Given the description of an element on the screen output the (x, y) to click on. 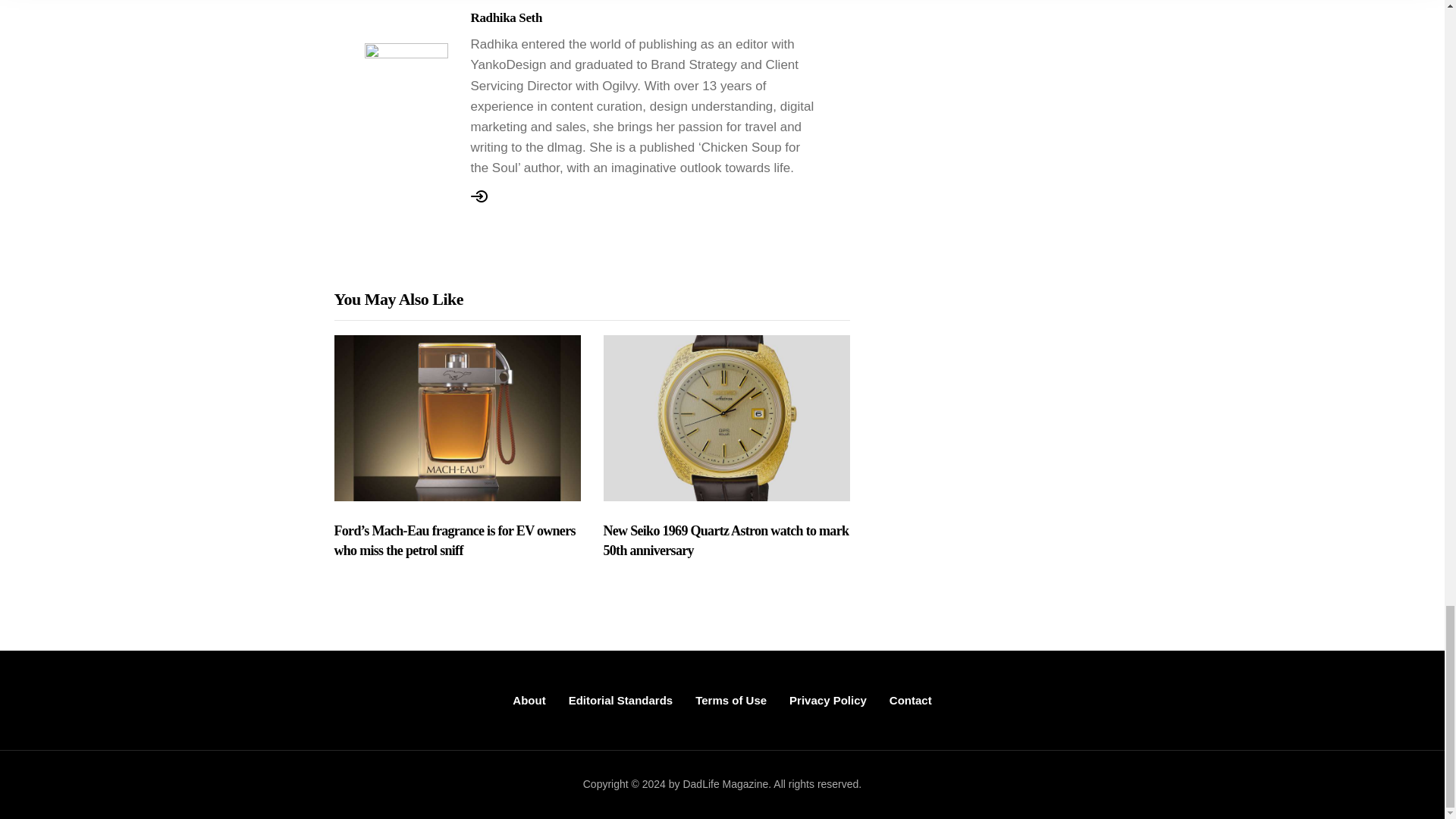
New Seiko 1969 Quartz Astron watch to mark 50th anniversary (727, 541)
